Given the description of an element on the screen output the (x, y) to click on. 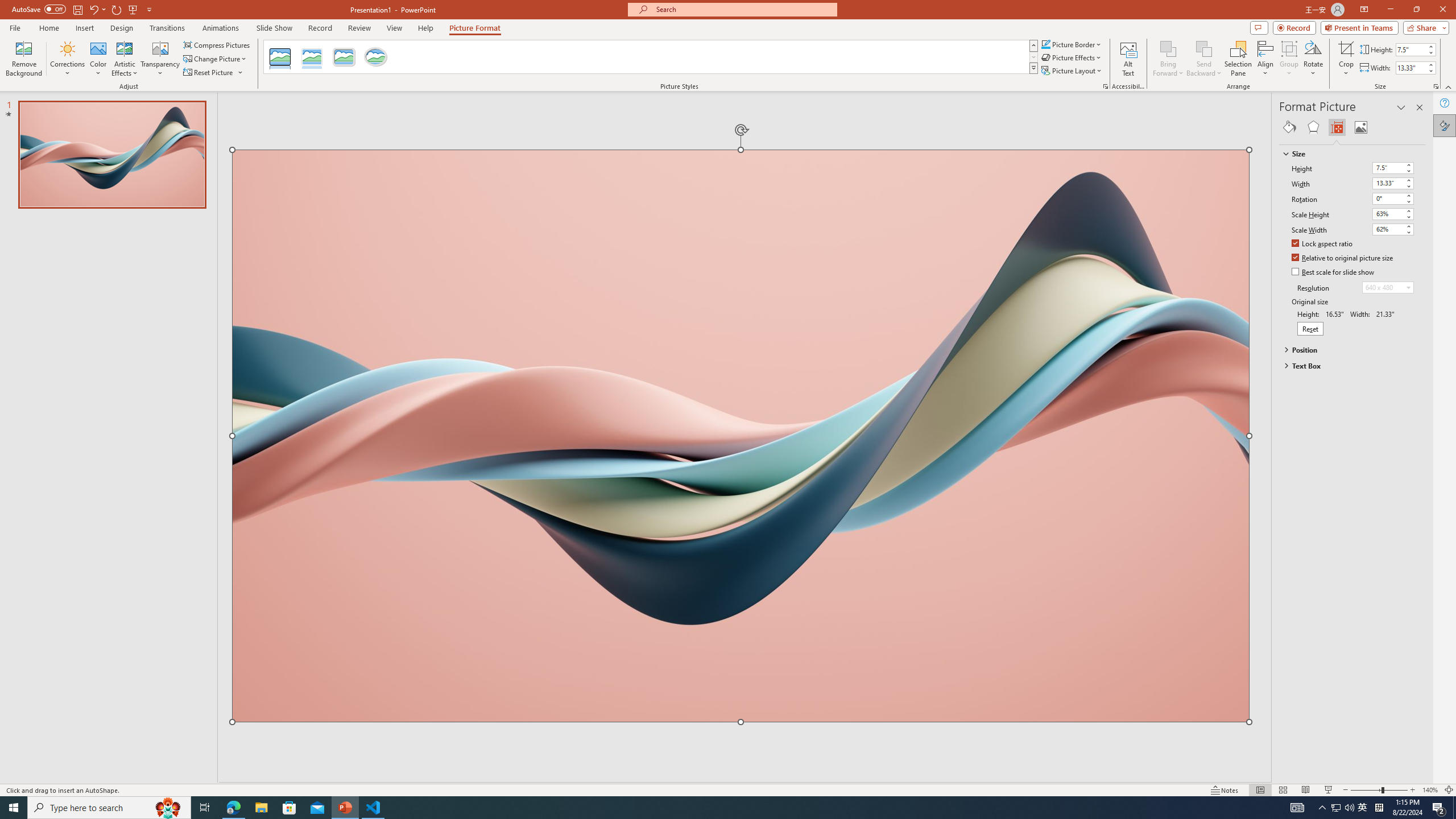
Effects (1313, 126)
Artistic Effects (124, 58)
Picture Layout (1072, 69)
Shape Height (1410, 49)
Class: NetUIGalleryContainer (1352, 126)
Color (97, 58)
